Given the description of an element on the screen output the (x, y) to click on. 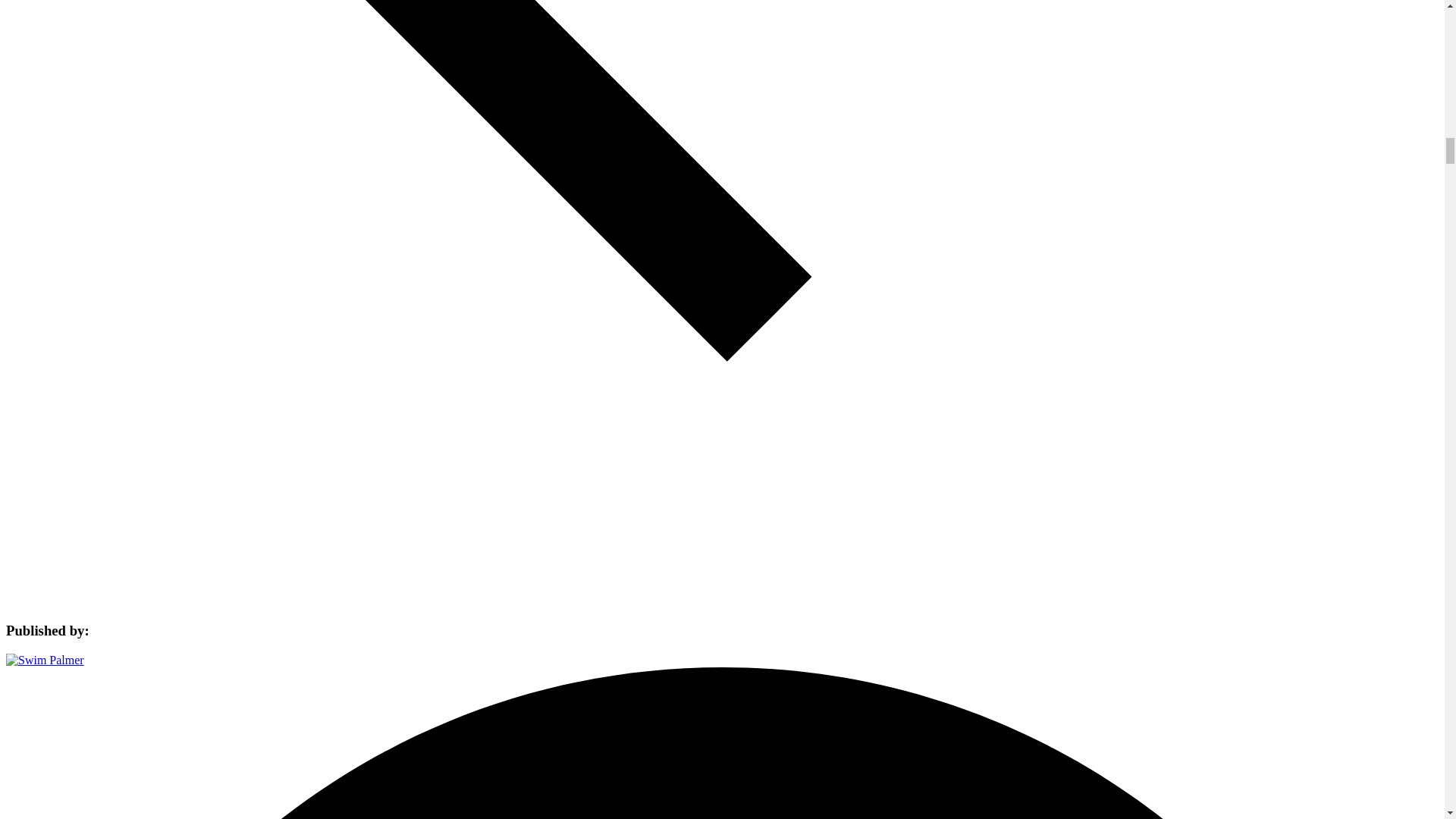
Swim Palmer (44, 659)
